Given the description of an element on the screen output the (x, y) to click on. 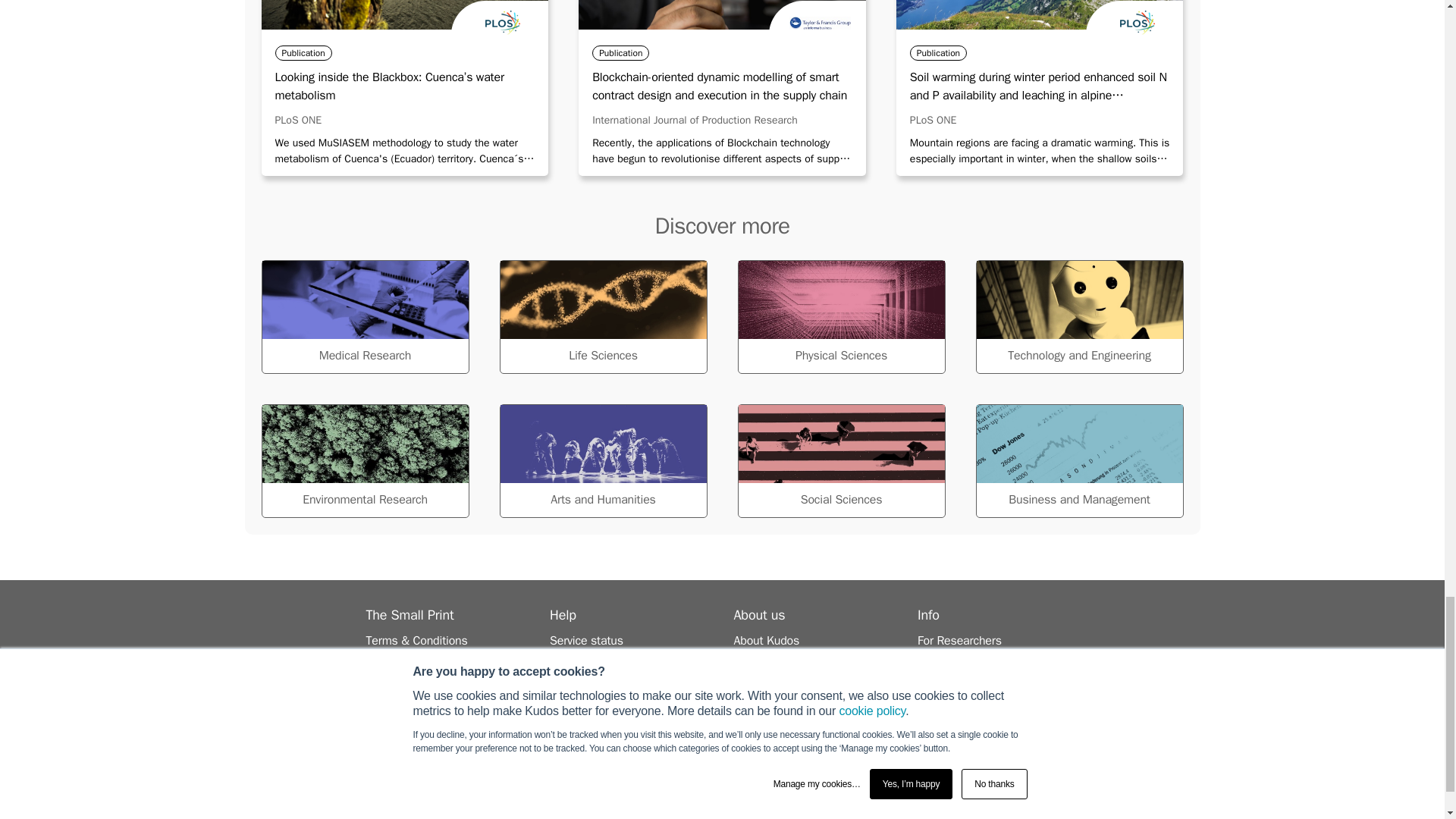
PLoS ONE (933, 119)
User guide (577, 658)
Medical Research (364, 316)
Privacy Policy (399, 658)
Technology and Engineering (1078, 316)
International Journal of Production Research (694, 119)
Service status (586, 640)
Life Sciences (602, 316)
Arts and Humanities (602, 460)
Environmental Research (364, 460)
Social Sciences (840, 460)
Logo Usage (395, 676)
Physical Sciences (840, 316)
Business and Management (1078, 460)
